Given the description of an element on the screen output the (x, y) to click on. 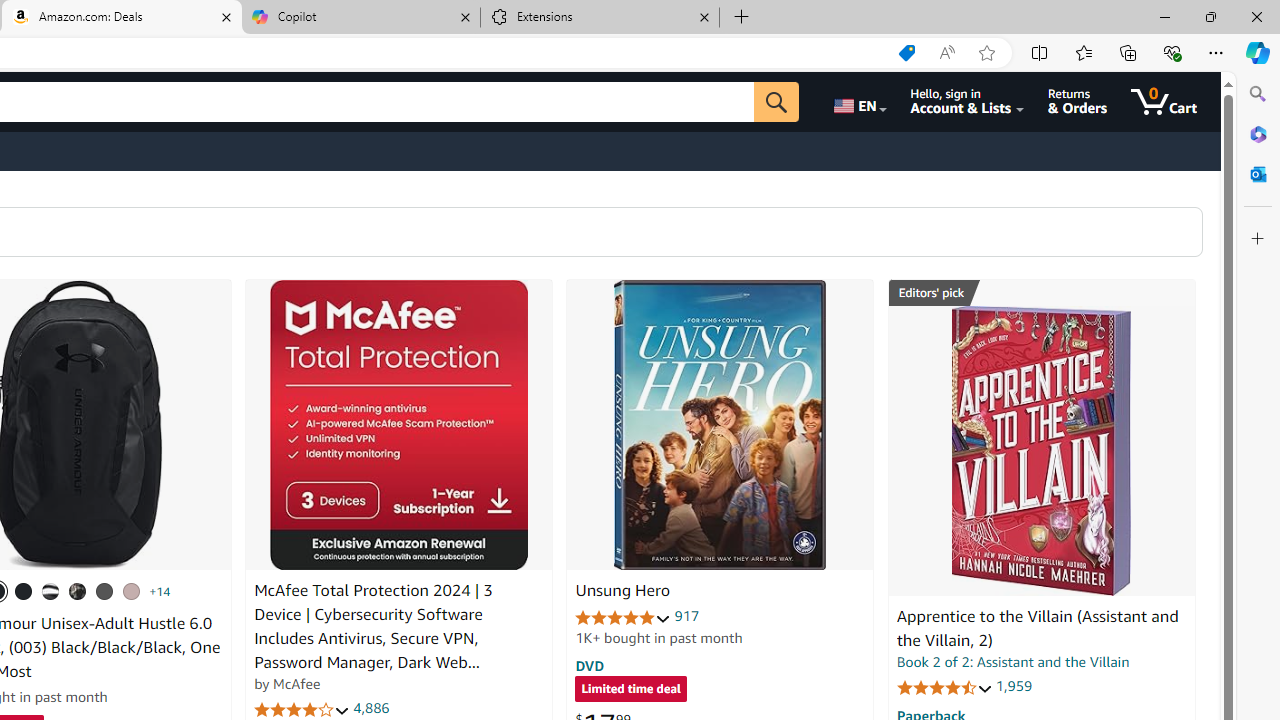
(005) Black Full Heather / Black / Metallic Gold (104, 591)
